Given the description of an element on the screen output the (x, y) to click on. 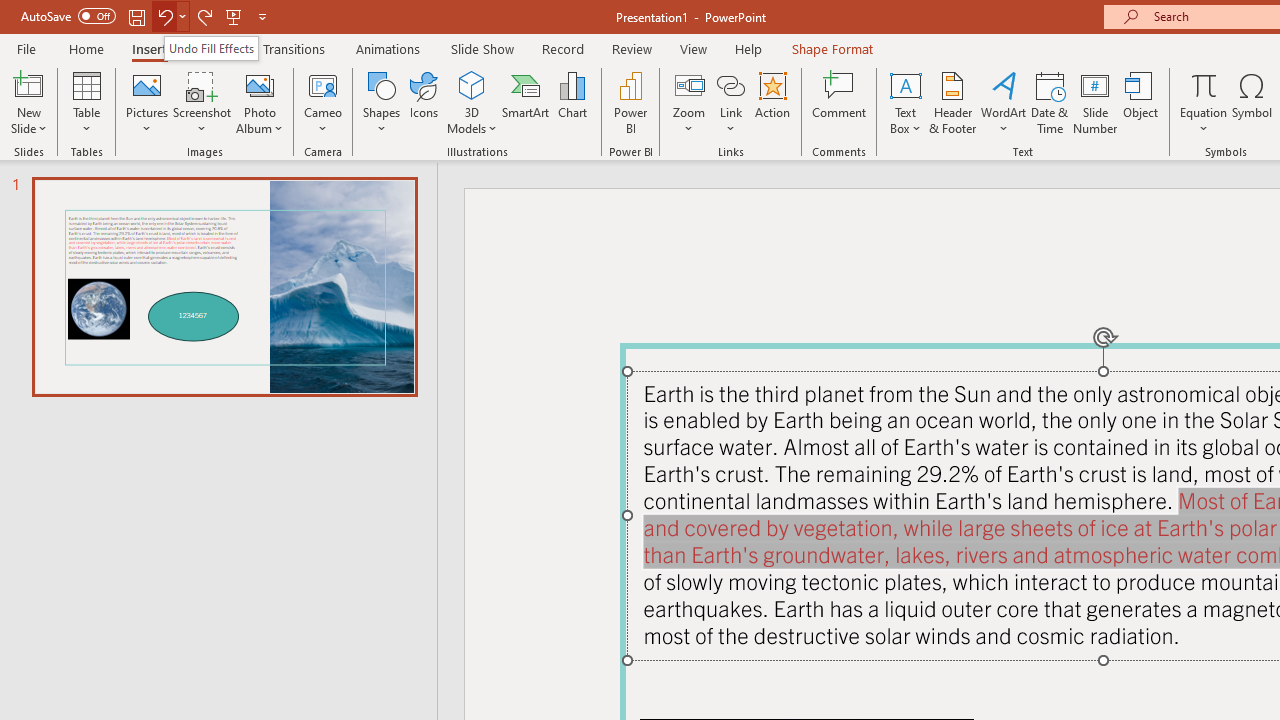
Comment (839, 102)
Undo Fill Effects (210, 48)
Draw Horizontal Text Box (905, 84)
Header & Footer... (952, 102)
Slide Number (1095, 102)
New Photo Album... (259, 84)
